Given the description of an element on the screen output the (x, y) to click on. 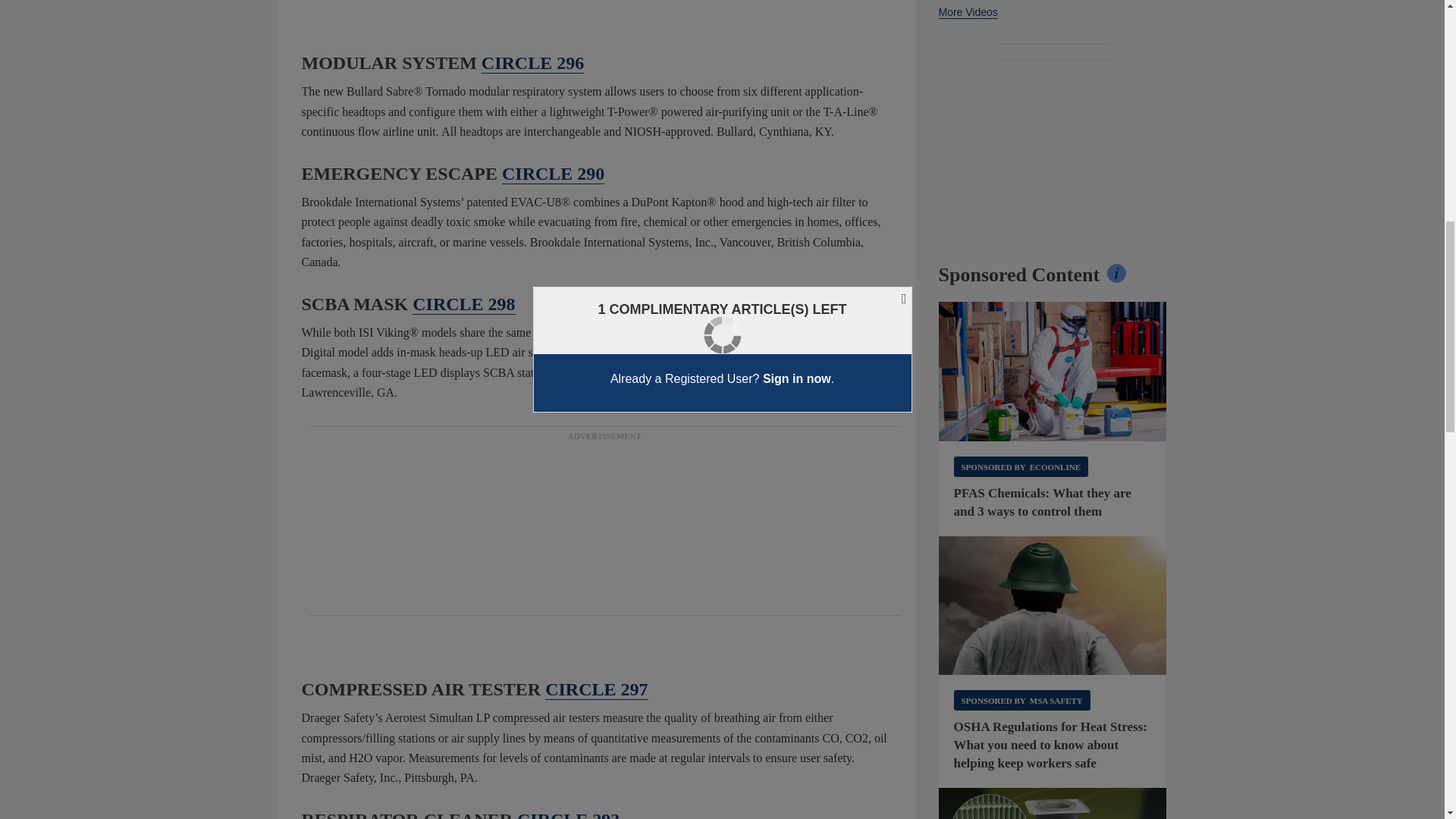
man working in summer heat (1052, 605)
Sponsored by MSA Safety (1021, 700)
Sponsored by EcoOnline (1021, 466)
chemical safety (1052, 371)
dust collector filters and media (1052, 803)
